Given the description of an element on the screen output the (x, y) to click on. 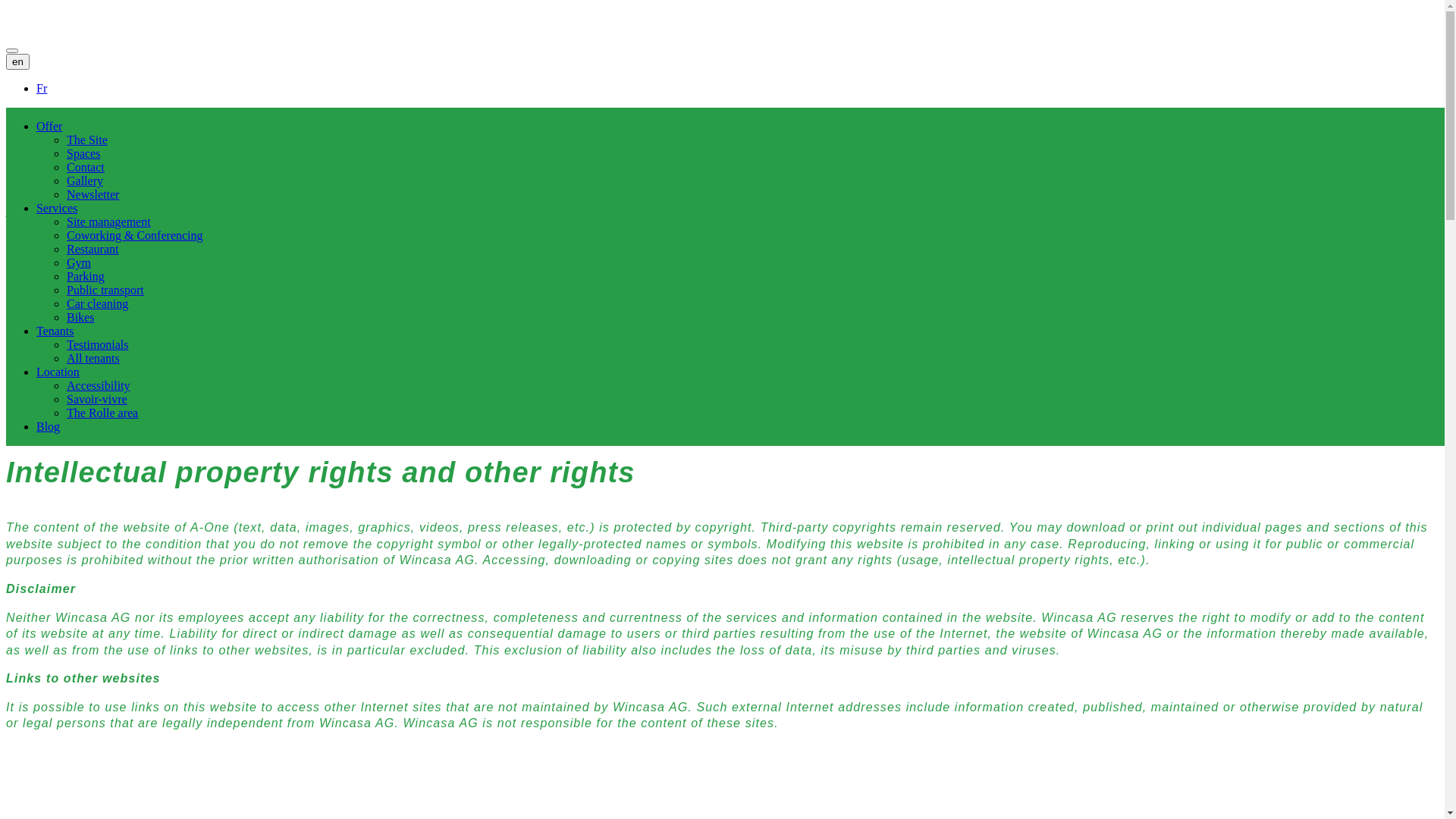
Savoir-vivre Element type: text (96, 398)
Gym Element type: text (78, 262)
Accessibility Element type: text (98, 385)
Tenants Element type: text (55, 330)
Offer Element type: text (49, 125)
en Element type: text (17, 61)
Site management Element type: text (108, 221)
Parking Element type: text (85, 275)
All tenants Element type: text (92, 357)
Contact Element type: text (85, 166)
info@a-one.ch Element type: text (51, 407)
Testimonials Element type: text (97, 344)
Services Element type: text (56, 207)
Bikes Element type: text (80, 316)
Spaces Element type: text (83, 153)
Newsletter Element type: text (92, 194)
Gallery Element type: text (84, 180)
The Rolle area Element type: text (102, 412)
Location Element type: text (57, 371)
Coworking & Conferencing Element type: text (134, 235)
Car cleaning Element type: text (97, 303)
+44 21 304 41 15 Element type: text (60, 391)
Blog Element type: text (47, 426)
Restaurant Element type: text (92, 248)
The Site Element type: text (86, 139)
Fr Element type: text (41, 87)
Public transport Element type: text (105, 289)
